Given the description of an element on the screen output the (x, y) to click on. 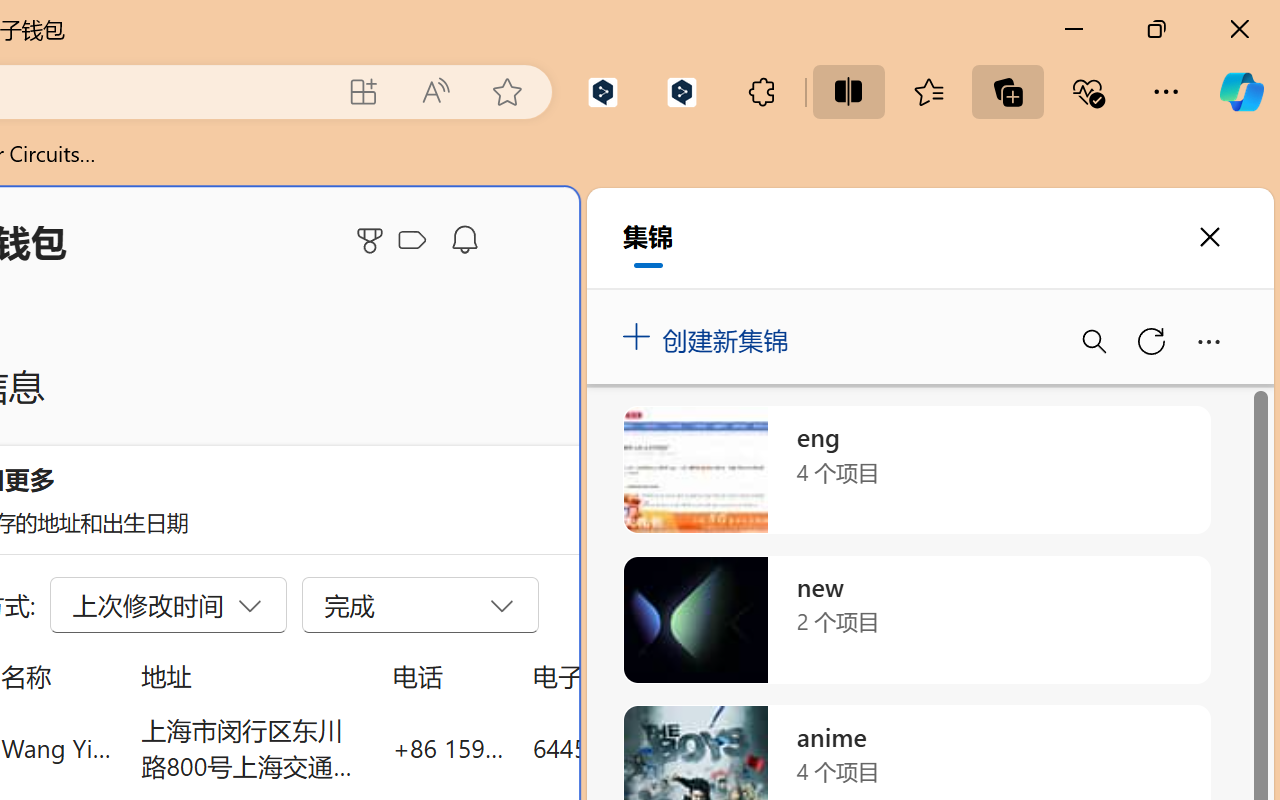
Microsoft Rewards (373, 240)
+86 159 0032 4640 (447, 747)
Copilot (Ctrl+Shift+.) (1241, 91)
Class: ___1lmltc5 f1agt3bx f12qytpq (411, 241)
